Given the description of an element on the screen output the (x, y) to click on. 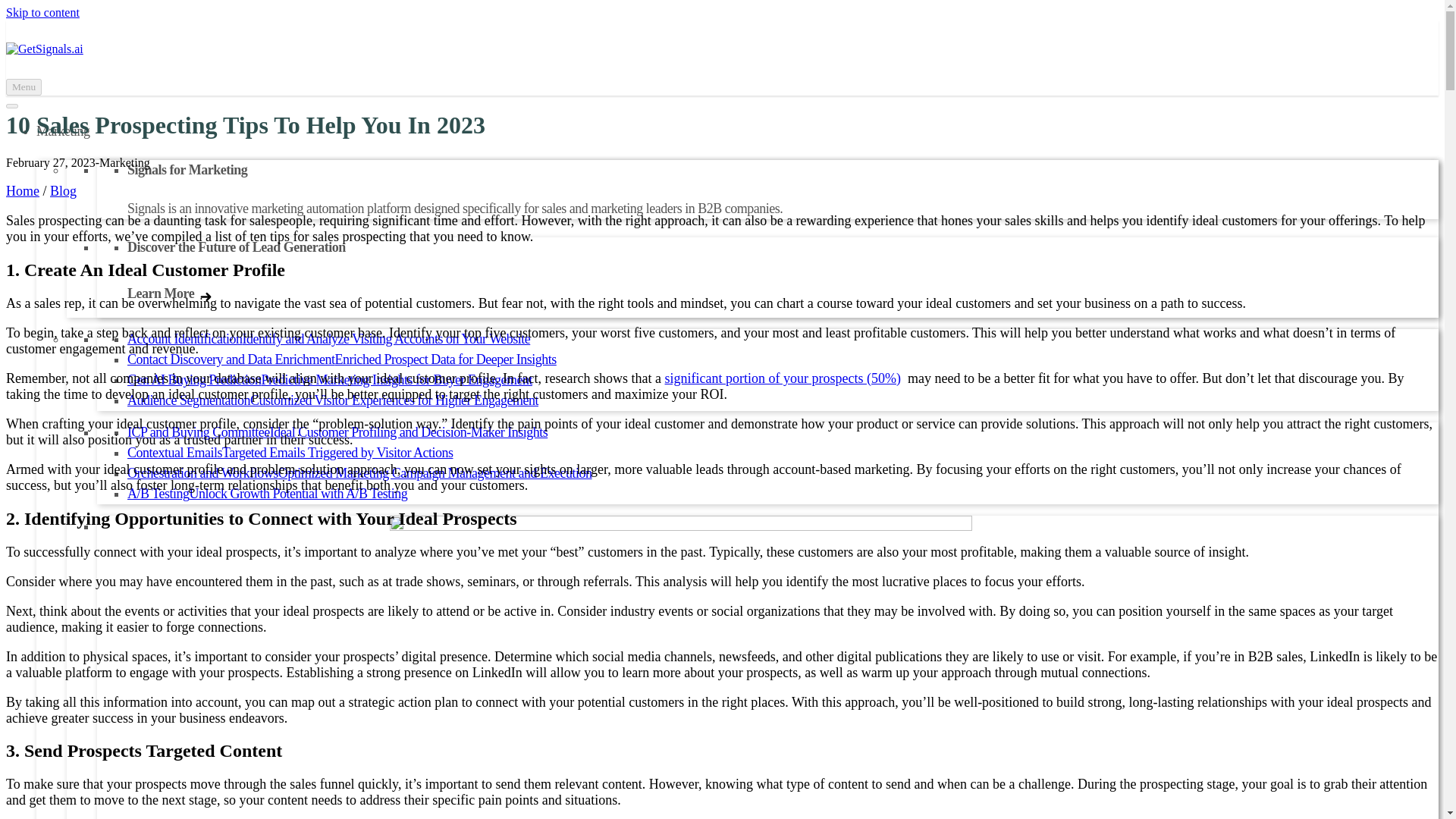
Home (22, 191)
Marketing (62, 130)
Skip to content (42, 11)
Blog (63, 191)
Menu (23, 86)
